Given the description of an element on the screen output the (x, y) to click on. 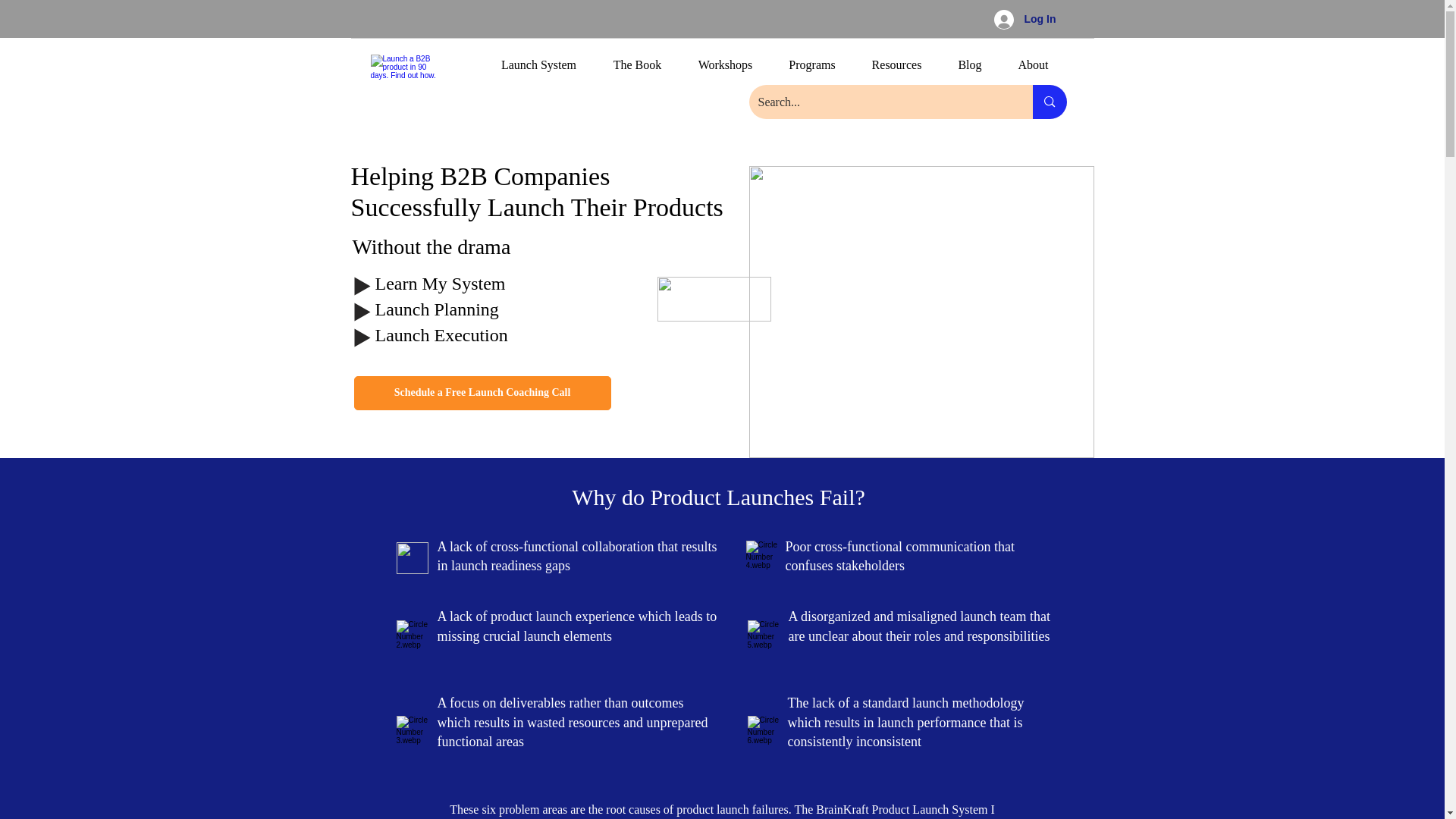
Log In (1023, 19)
Blog (970, 69)
The Book (636, 69)
Launch Planning (435, 309)
Launch System (537, 69)
Launch Execution (440, 334)
Schedule a Free Launch Coaching Call (481, 392)
About (1031, 69)
Workshops (724, 69)
Learn My System (439, 283)
